Given the description of an element on the screen output the (x, y) to click on. 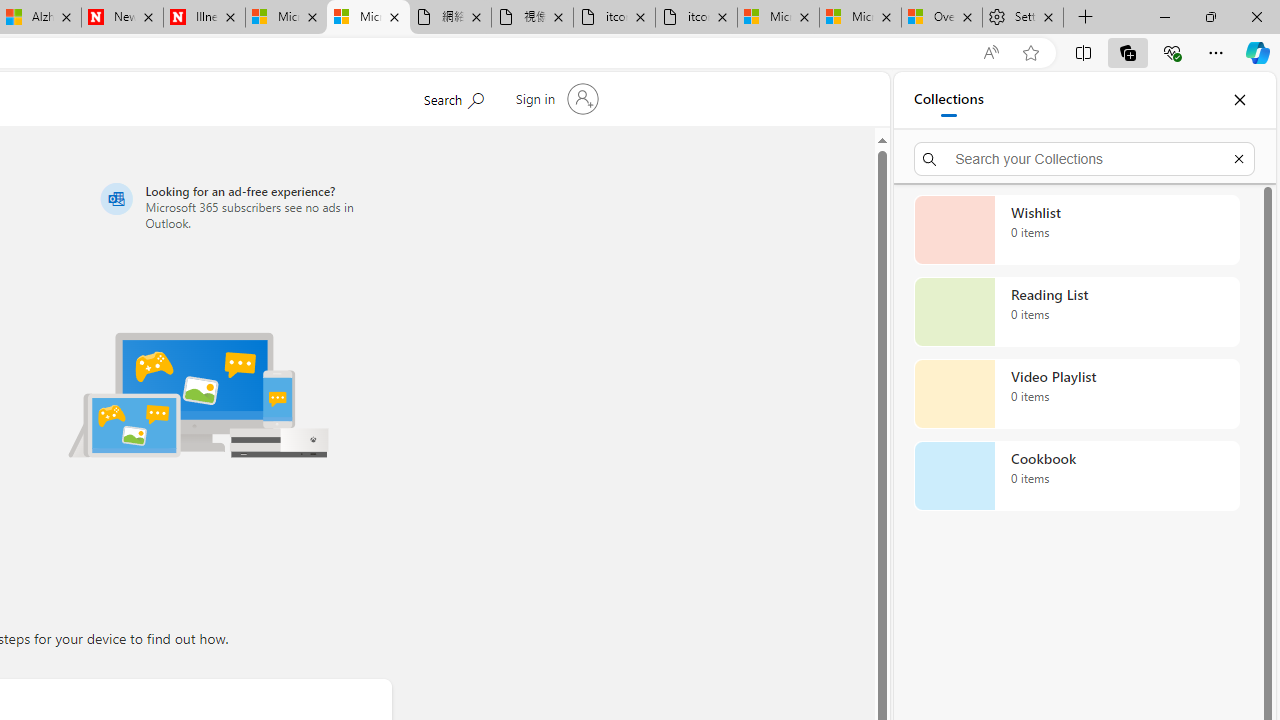
Exit search (1238, 158)
